Given the description of an element on the screen output the (x, y) to click on. 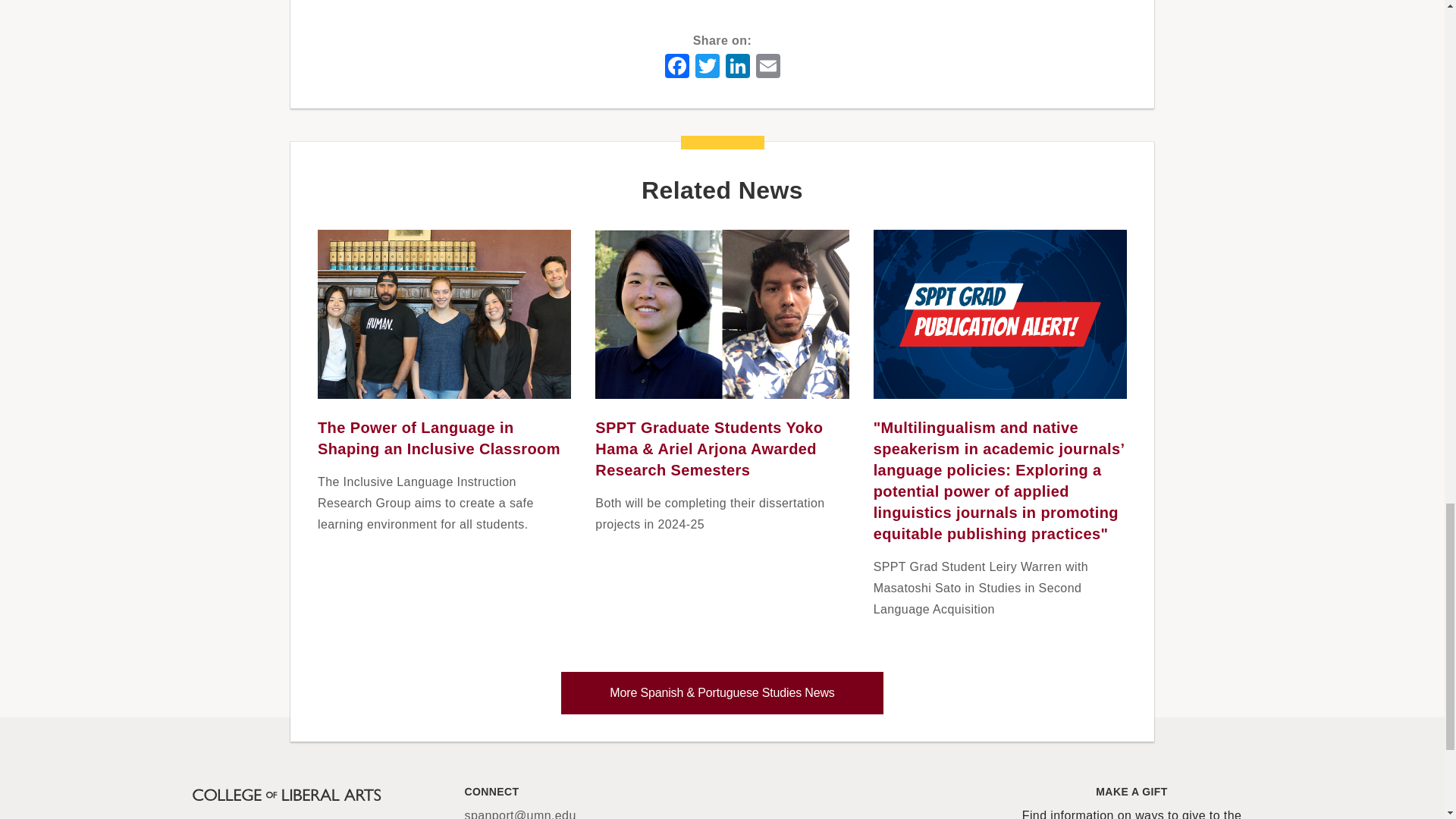
Facebook (675, 64)
The Power of Language in Shaping an Inclusive Classroom (438, 438)
Email (766, 64)
LinkedIn (737, 64)
Twitter (706, 64)
